Given the description of an element on the screen output the (x, y) to click on. 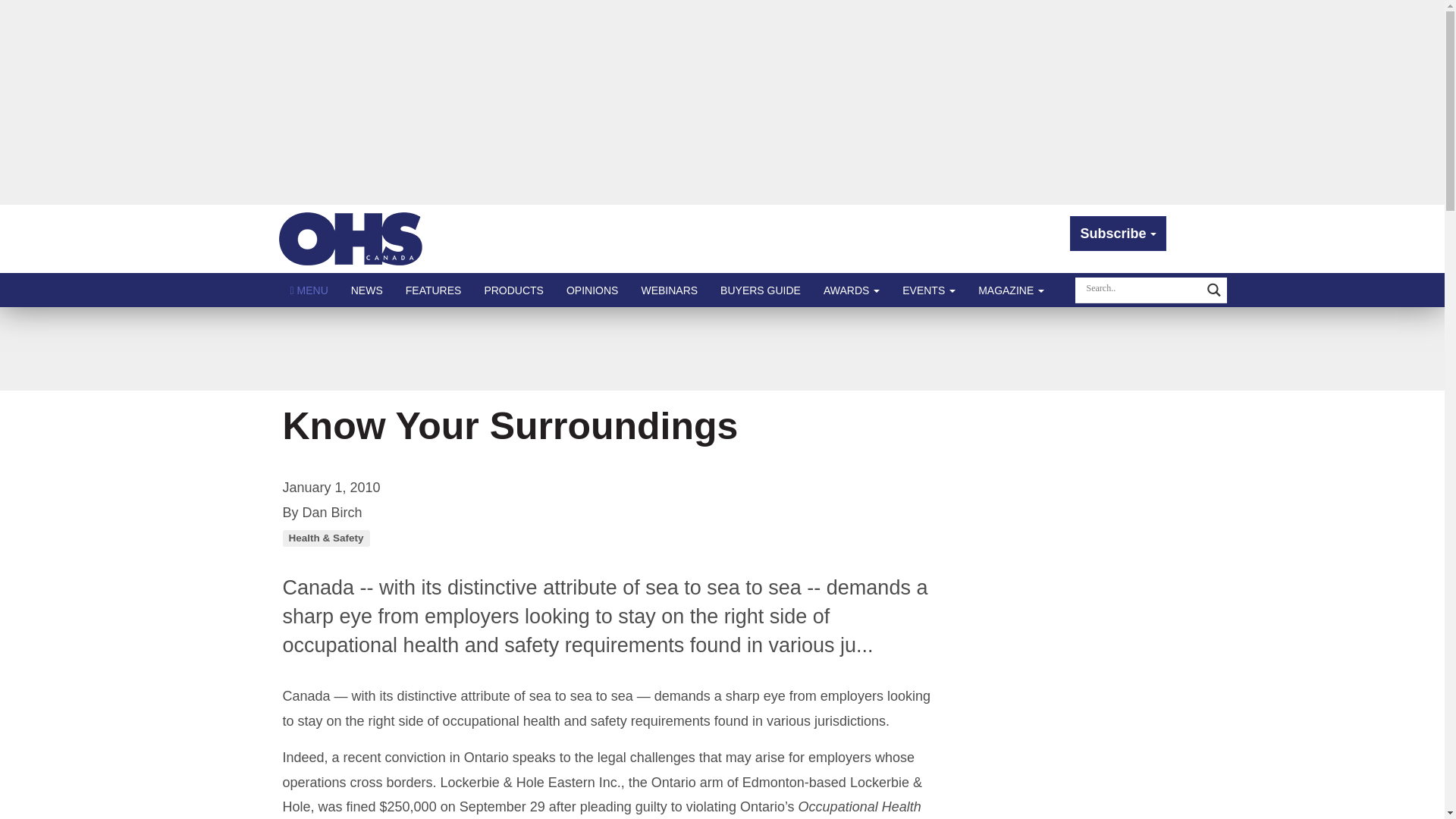
FEATURES (433, 289)
AWARDS (851, 289)
OPINIONS (591, 289)
3rd party ad content (721, 348)
MENU (309, 289)
PRODUCTS (512, 289)
EVENTS (928, 289)
OHS Canada Magazine (351, 237)
NEWS (366, 289)
WEBINARS (668, 289)
